Given the description of an element on the screen output the (x, y) to click on. 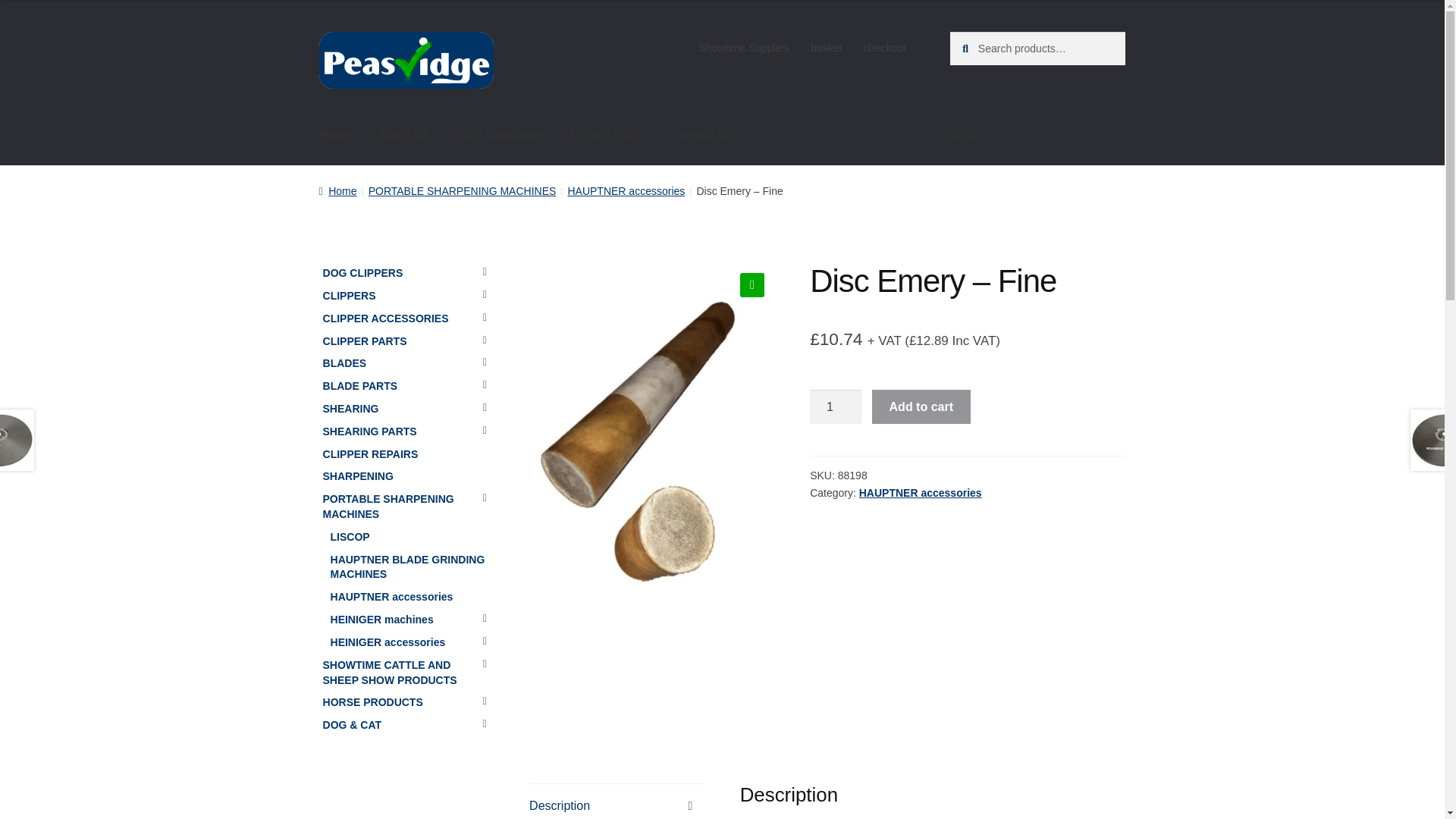
2024 Catalogue (499, 134)
checkout (884, 47)
HAUPTNER accessories (625, 191)
Add to cart (921, 407)
Description (616, 801)
Home (335, 134)
HAUPTNER accessories (920, 492)
Qty (835, 407)
Home (337, 191)
88198t1 (651, 484)
PORTABLE SHARPENING MACHINES (462, 191)
Privacy Policy (607, 134)
Contact Us (702, 134)
